Given the description of an element on the screen output the (x, y) to click on. 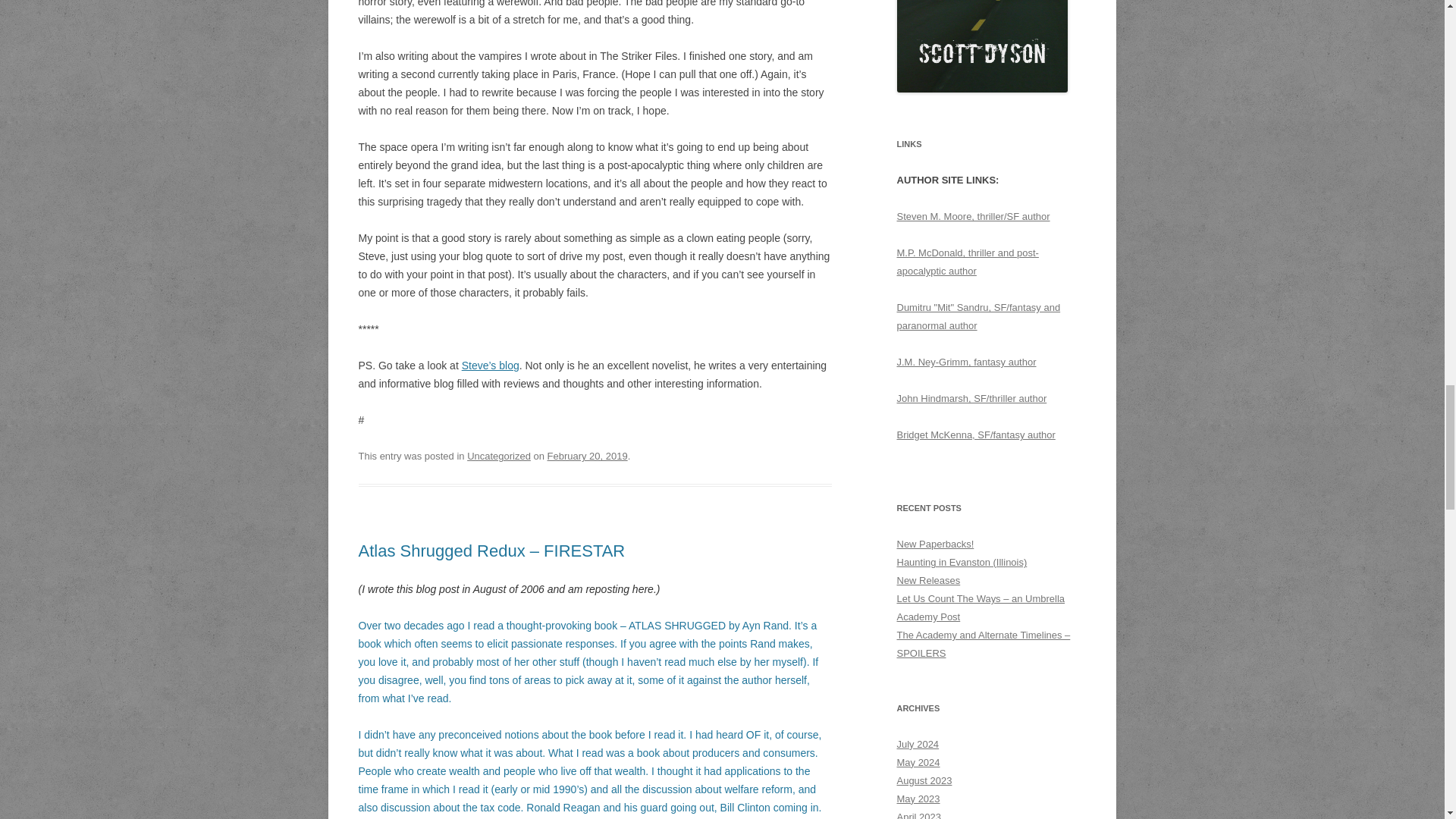
4:07 pm (587, 455)
Uncategorized (499, 455)
February 20, 2019 (587, 455)
